Given the description of an element on the screen output the (x, y) to click on. 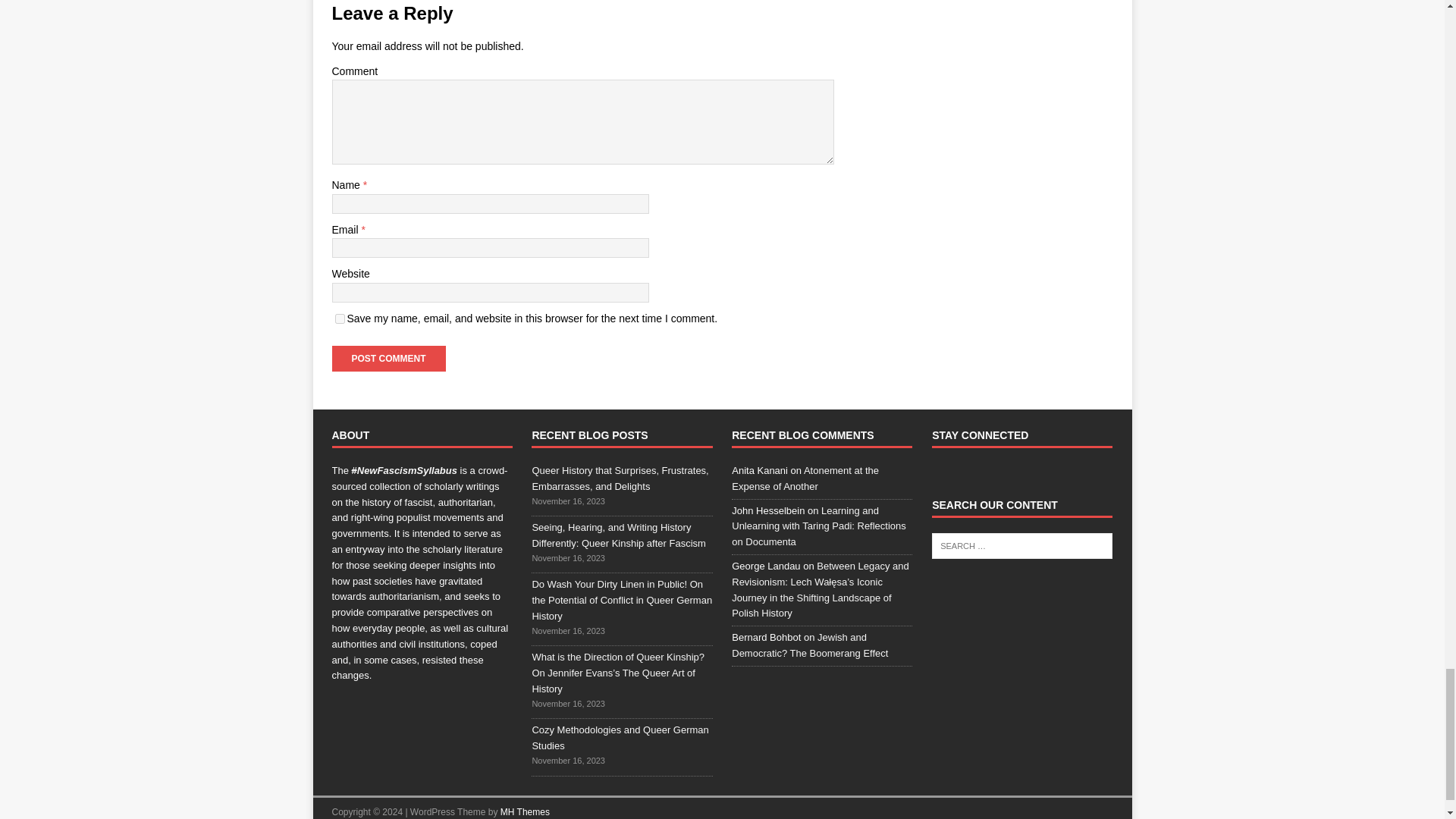
yes (339, 318)
Post Comment (388, 358)
